Given the description of an element on the screen output the (x, y) to click on. 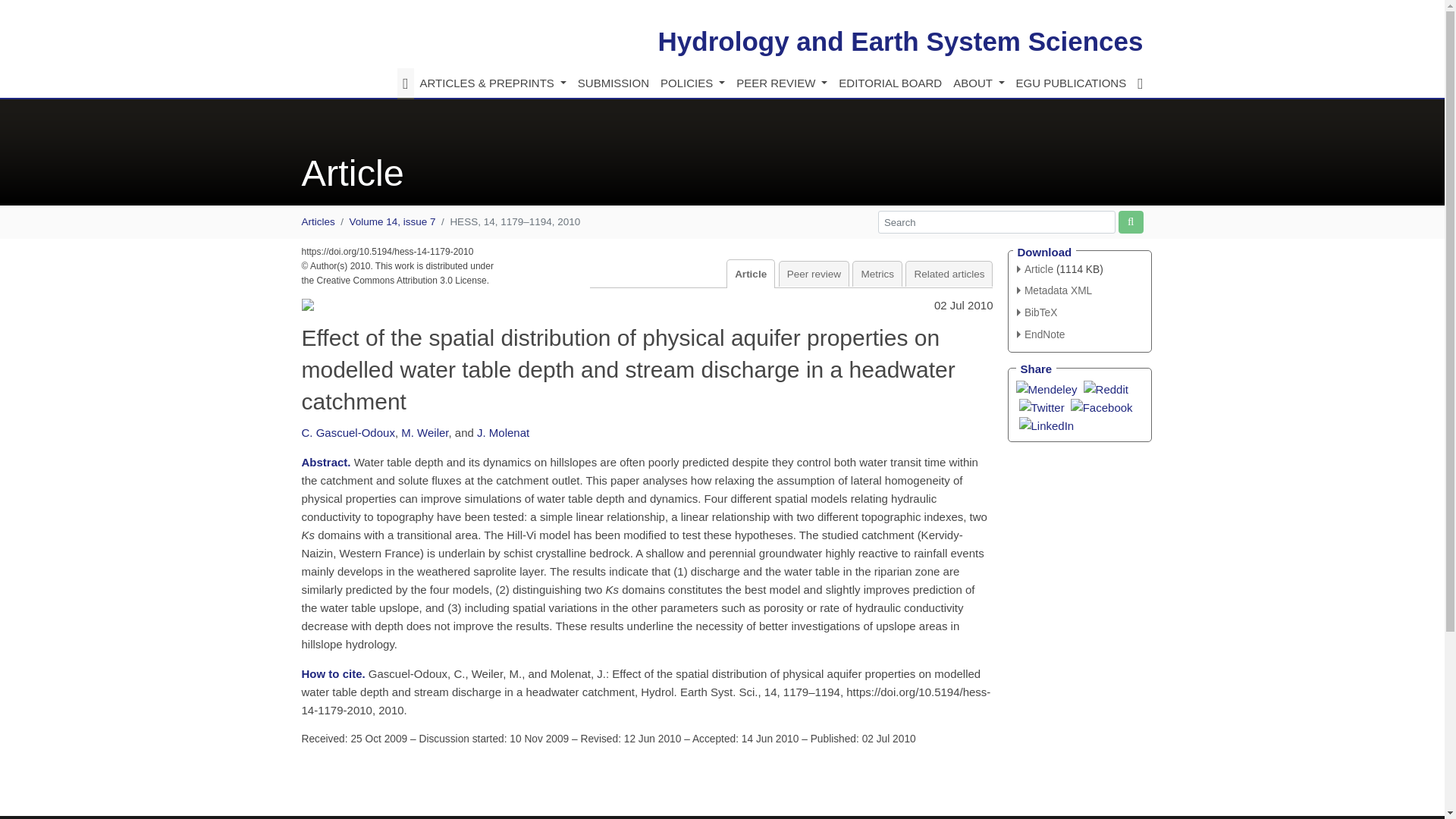
Reddit (1105, 388)
Start site search (1130, 221)
Twitter (1041, 406)
SUBMISSION (612, 83)
Mendeley (1046, 388)
PEER REVIEW (781, 83)
Hydrology and Earth System Sciences (900, 41)
Facebook (1101, 406)
POLICIES (691, 83)
XML Version (1054, 290)
